Given the description of an element on the screen output the (x, y) to click on. 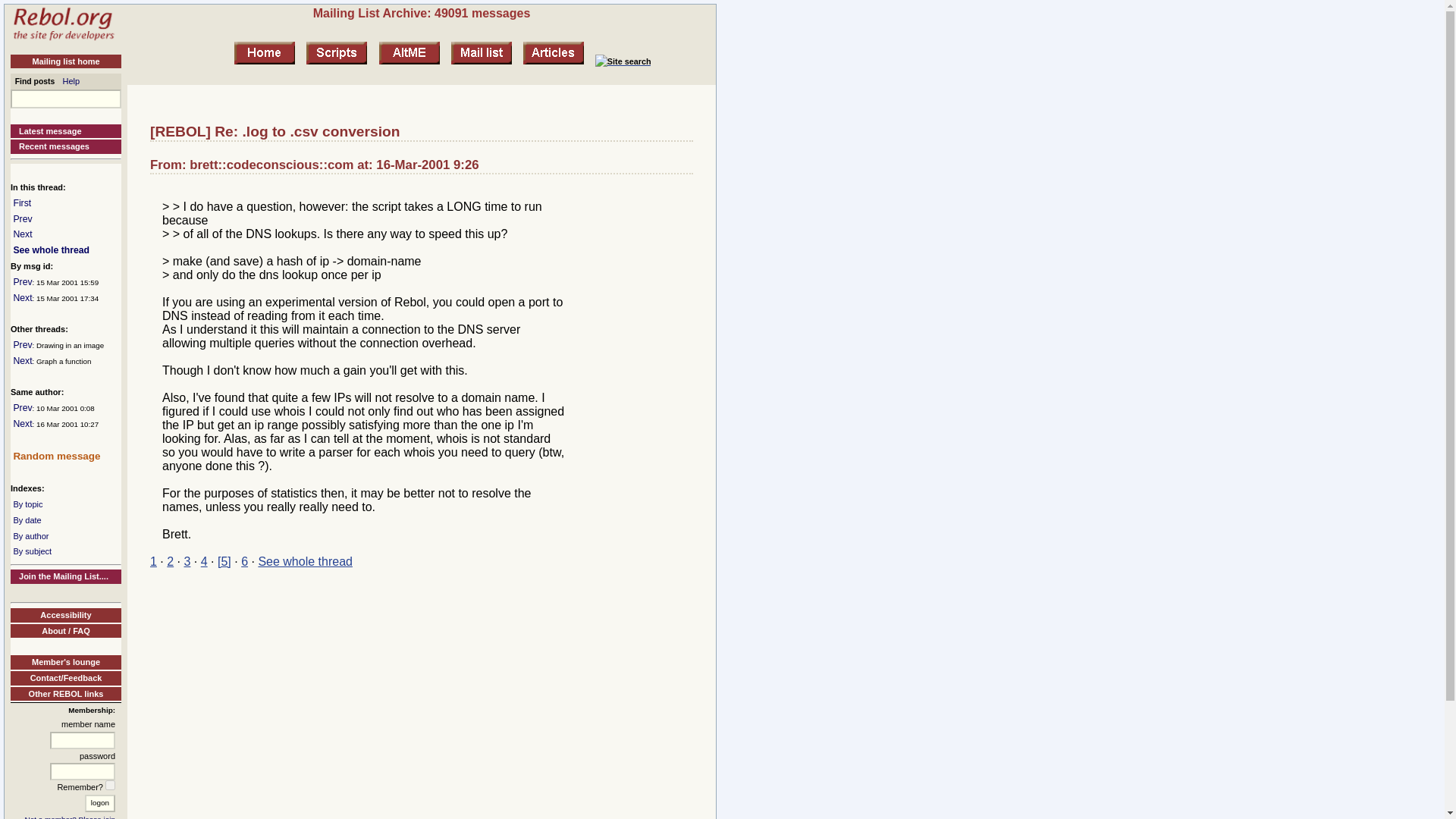
Next (22, 297)
Next (22, 234)
Not a member? Please join (69, 816)
Join the Mailing List.... (65, 576)
By topic (27, 503)
Next (22, 423)
Home (63, 40)
Prev (22, 344)
Latest message (65, 131)
Next (22, 360)
